Given the description of an element on the screen output the (x, y) to click on. 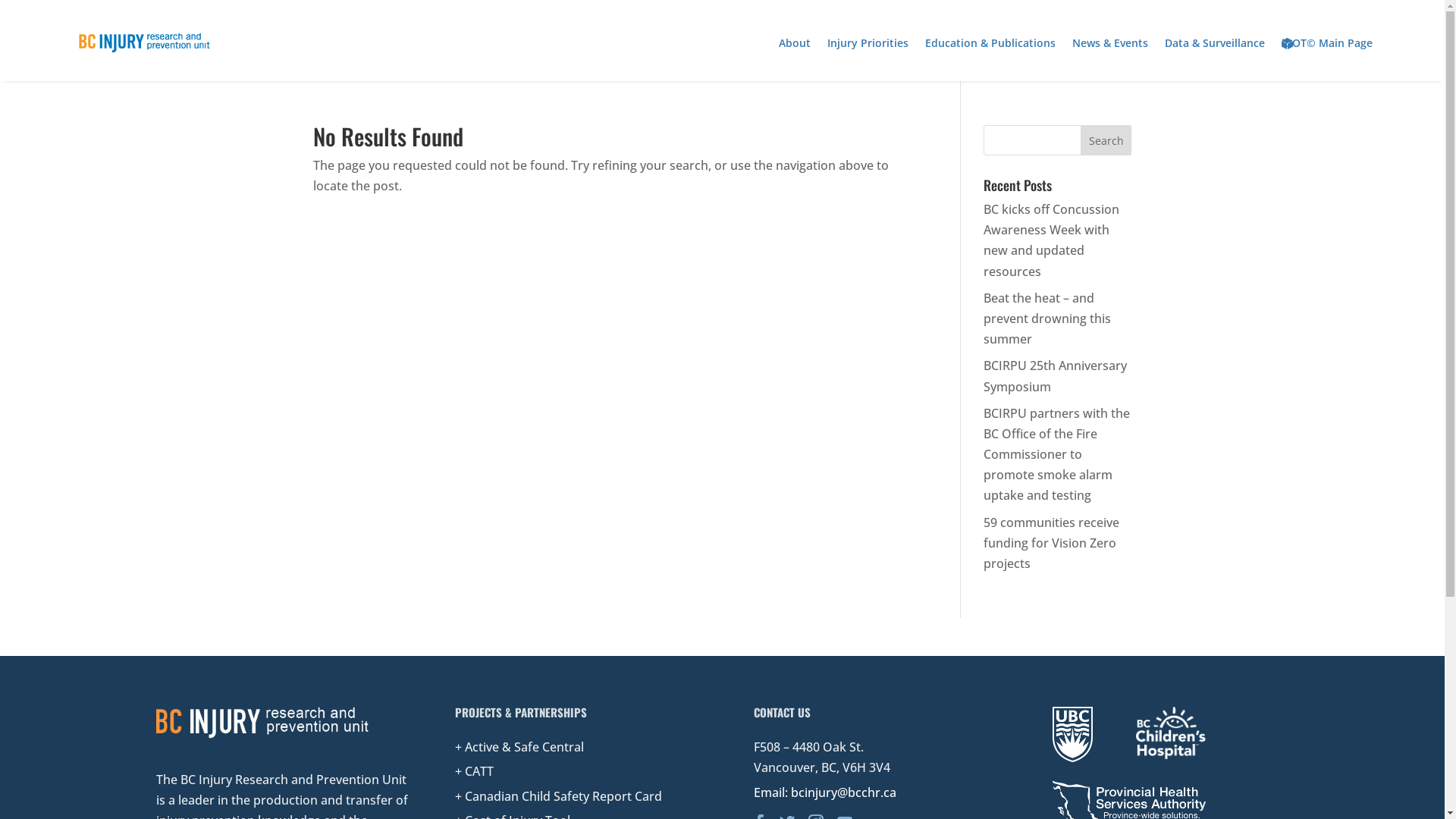
Email: bcinjury@bcchr.ca Element type: text (824, 792)
Search Element type: text (1106, 140)
News & Events Element type: text (1110, 43)
Data & Surveillance Element type: text (1214, 43)
59 communities receive funding for Vision Zero projects Element type: text (1051, 542)
About Element type: text (794, 43)
Education & Publications Element type: text (990, 43)
Injury Priorities Element type: text (867, 43)
BCIRPU 25th Anniversary Symposium Element type: text (1054, 375)
bcirpu_white_orange Element type: hover (262, 722)
